Given the description of an element on the screen output the (x, y) to click on. 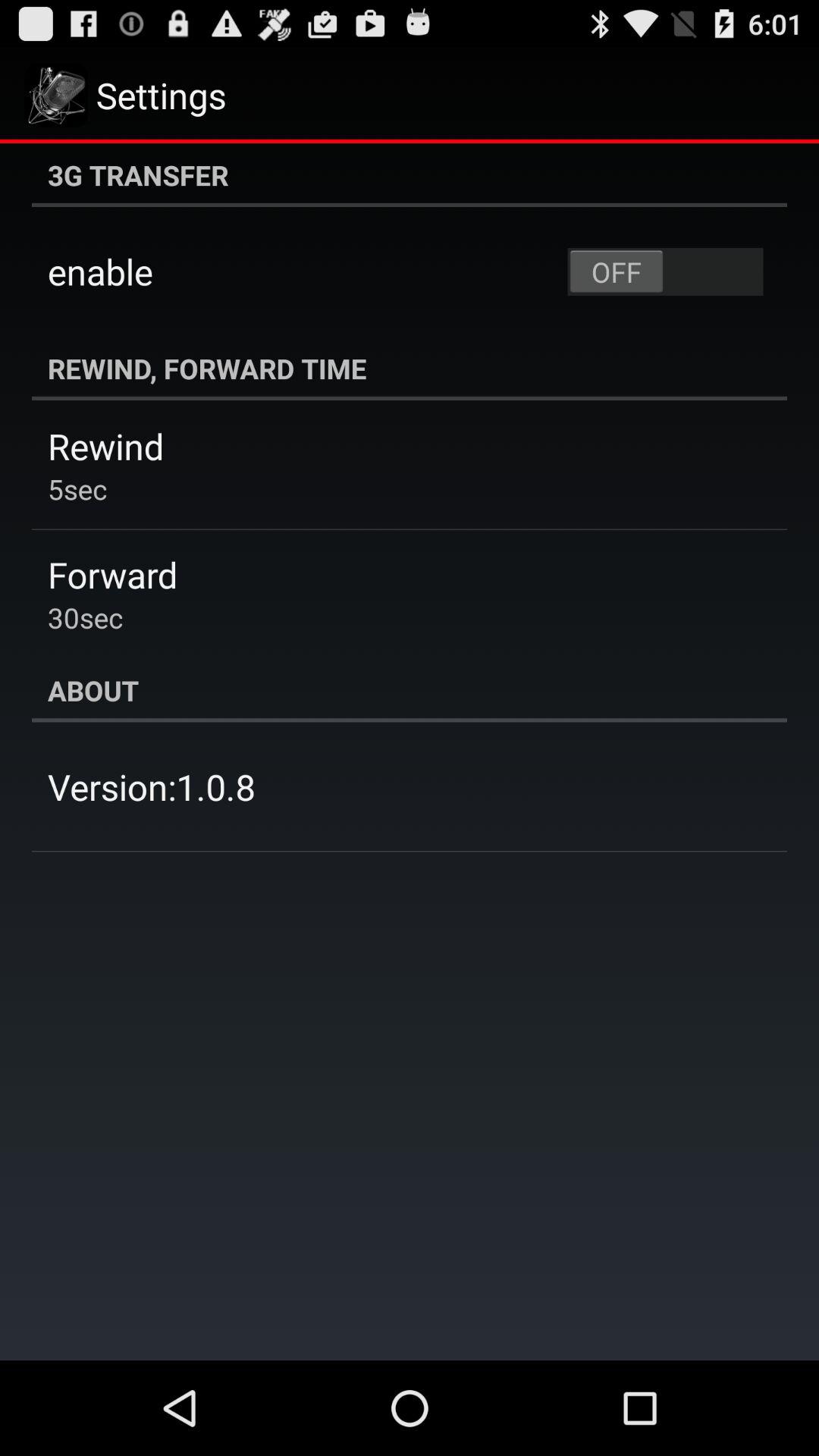
turn on the app above rewind item (409, 368)
